Given the description of an element on the screen output the (x, y) to click on. 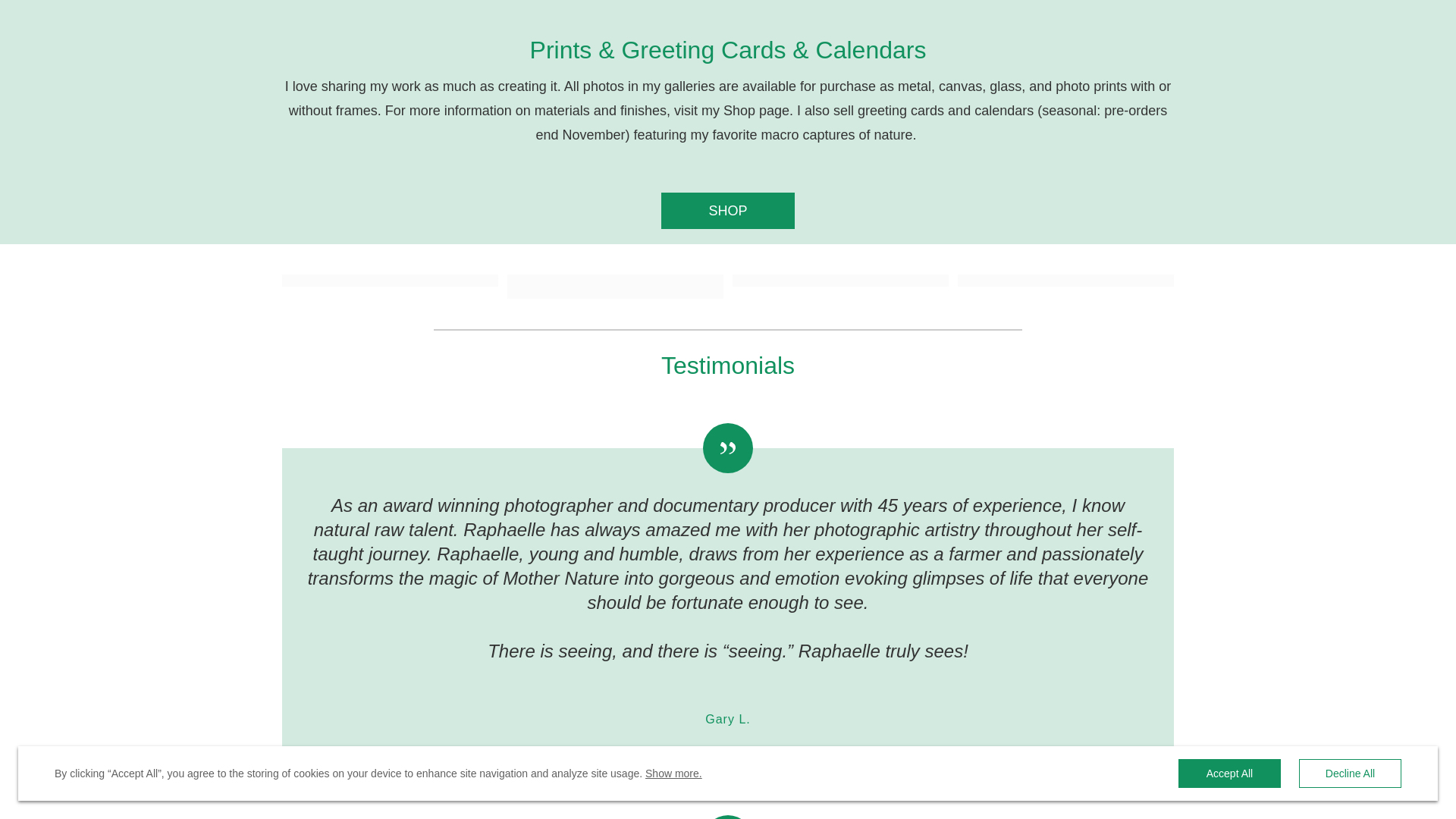
SHOP (727, 210)
